Given the description of an element on the screen output the (x, y) to click on. 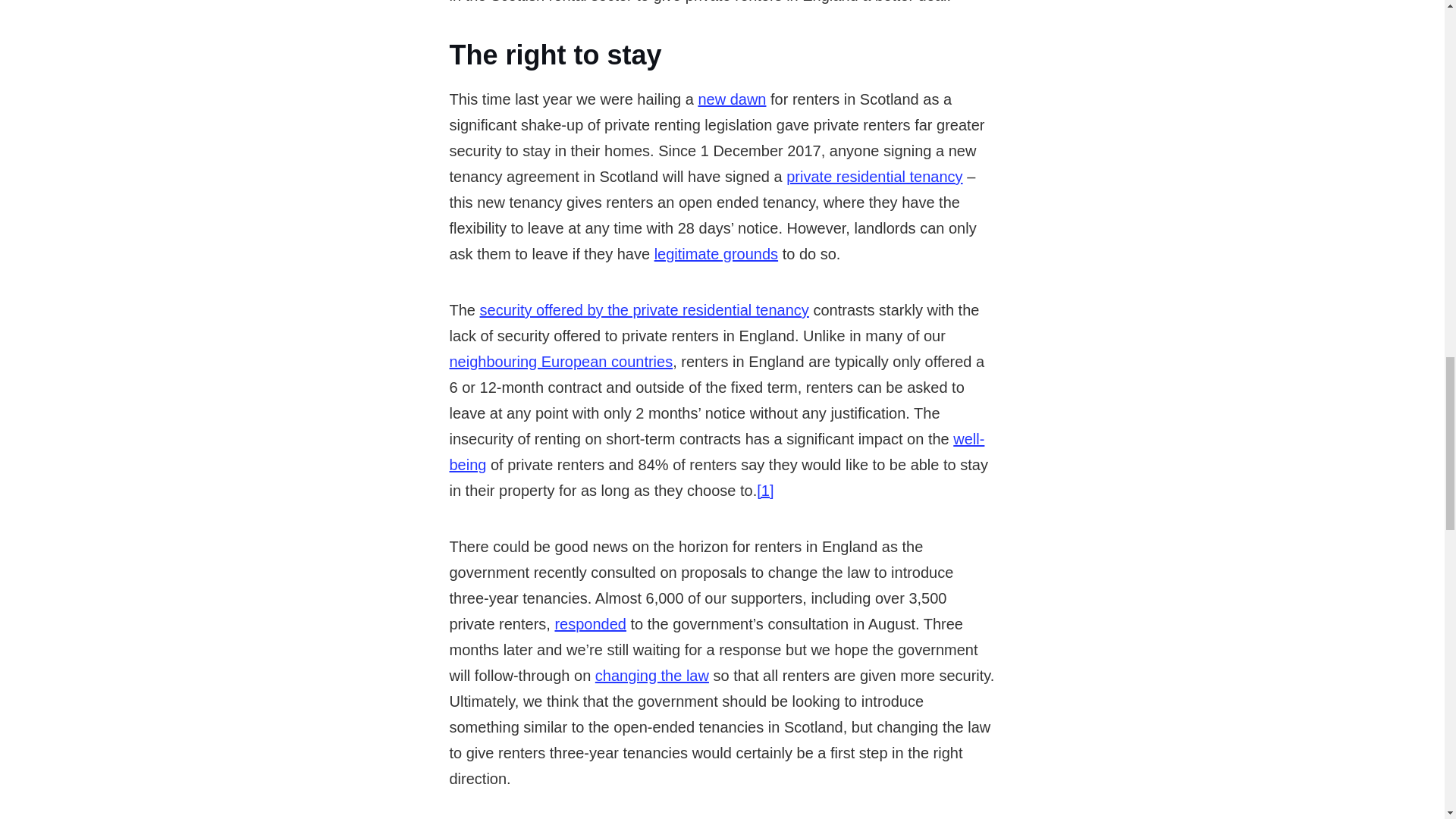
private residential tenancy (874, 176)
neighbouring European countries (560, 361)
changing the law (652, 675)
new dawn (731, 98)
well-being (716, 451)
responded (590, 623)
security offered by the private residential tenancy (644, 310)
legitimate grounds (715, 253)
